Given the description of an element on the screen output the (x, y) to click on. 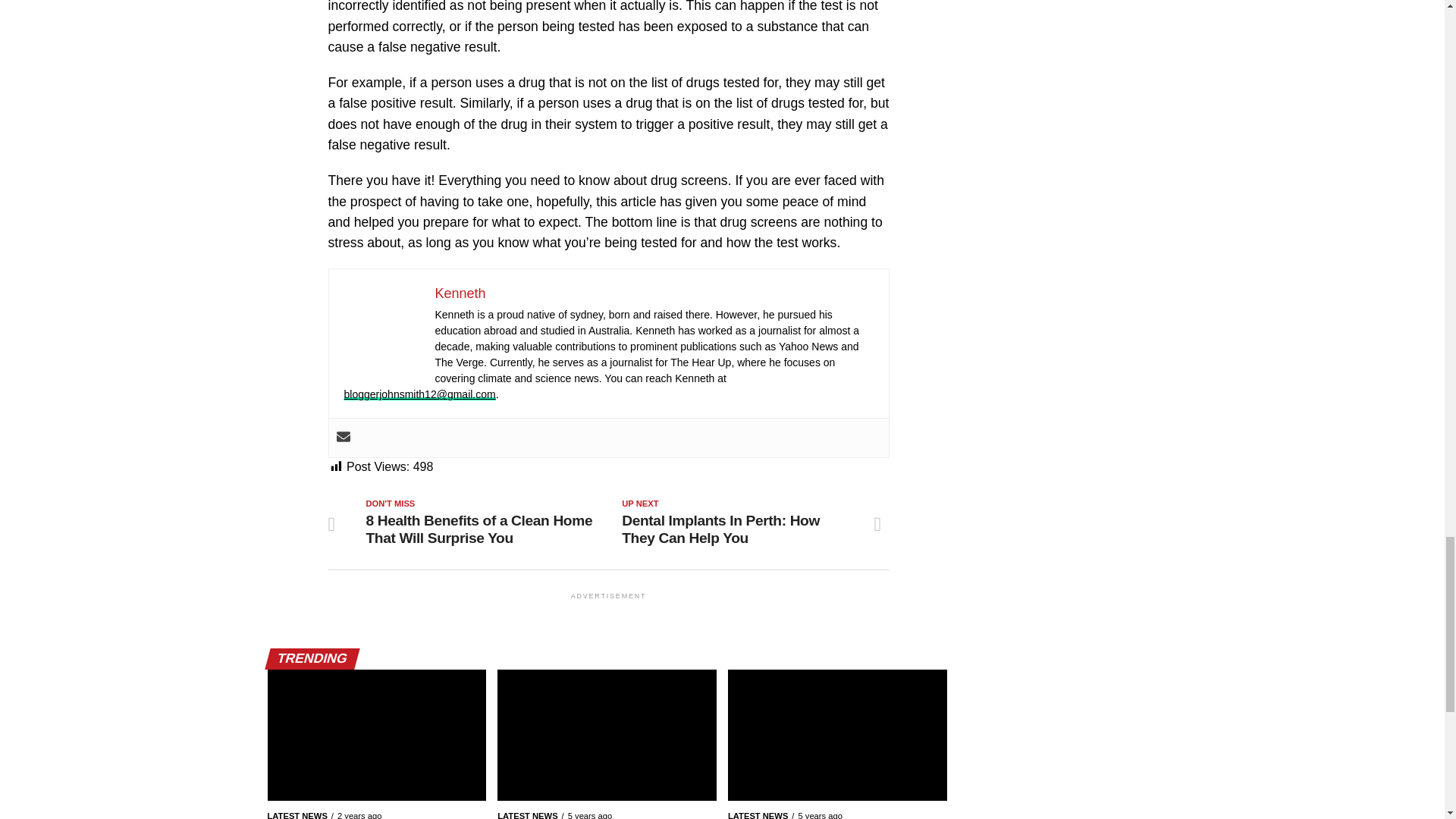
Kenneth (460, 293)
